Given the description of an element on the screen output the (x, y) to click on. 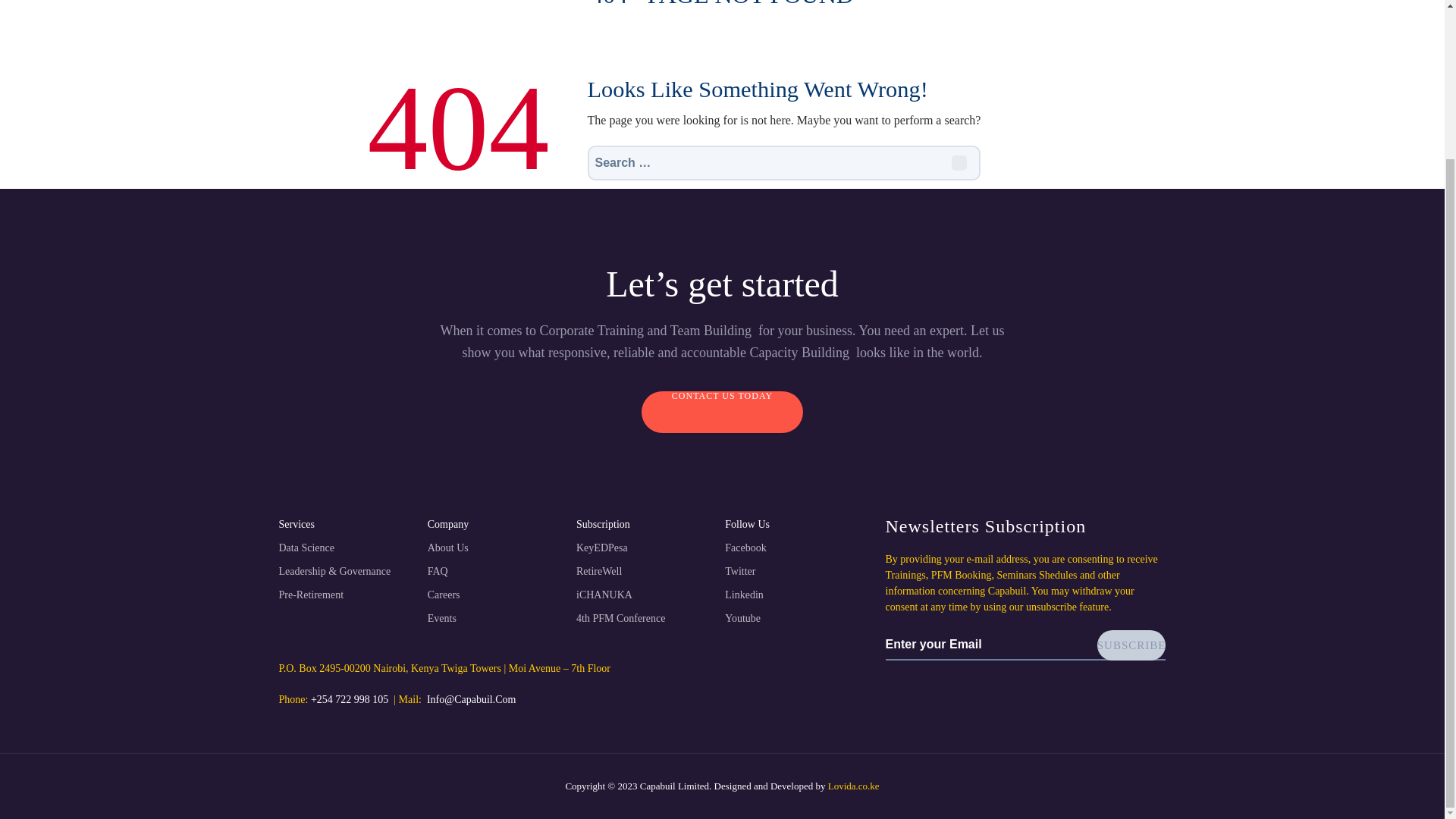
Search (959, 162)
Search (959, 162)
SUBSCRIBE (1131, 644)
